Given the description of an element on the screen output the (x, y) to click on. 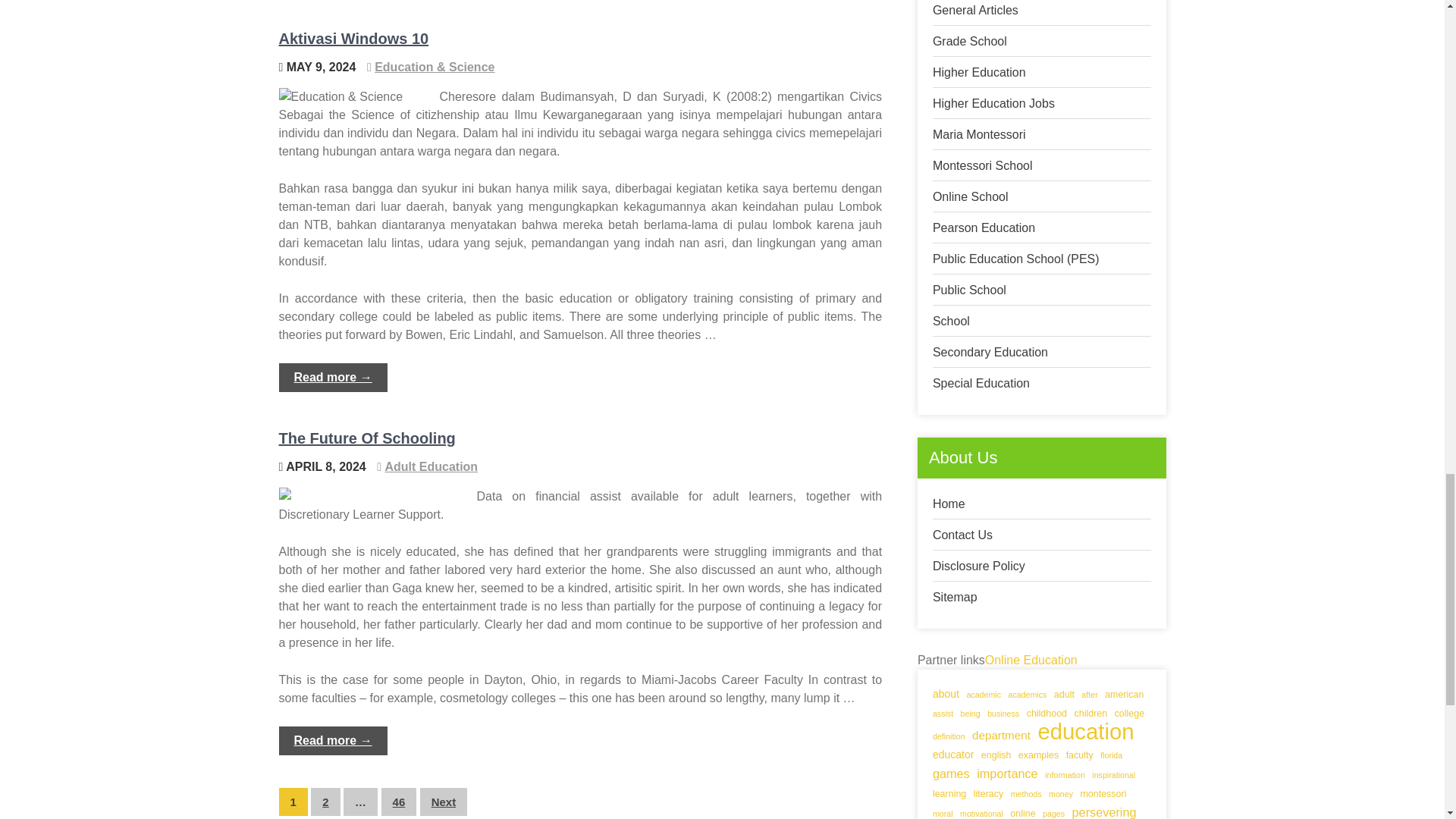
Aktivasi Windows 10 (354, 38)
